Given the description of an element on the screen output the (x, y) to click on. 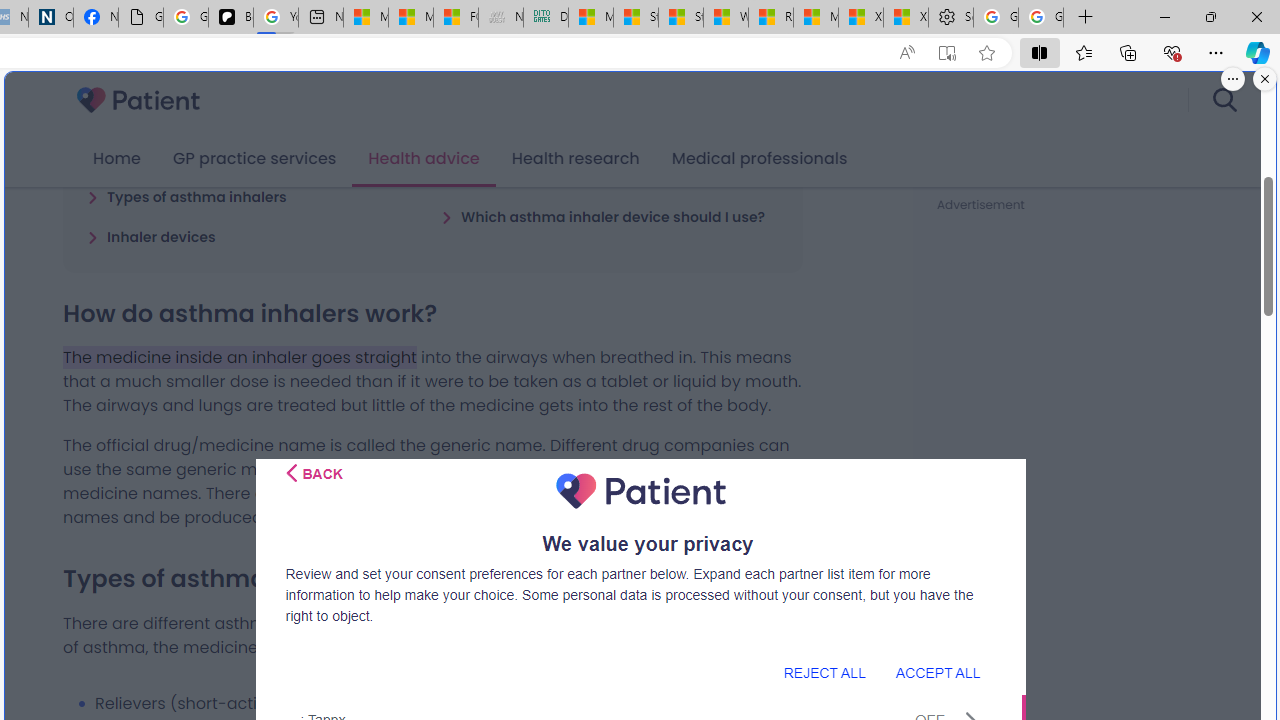
Split screen (1039, 52)
Add this page to favorites (Ctrl+D) (986, 53)
Stocks - MSN (680, 17)
R******* | Trusted Community Engagement and Contributions (770, 17)
REJECT ALL (824, 672)
More options. (1233, 79)
Collections (1128, 52)
Minimize (1164, 16)
Class: css-i5klq5 (291, 473)
Copilot (Ctrl+Shift+.) (1258, 52)
Enter Immersive Reader (F9) (946, 53)
Are there any side-effects from asthma inhalers? (610, 167)
